Given the description of an element on the screen output the (x, y) to click on. 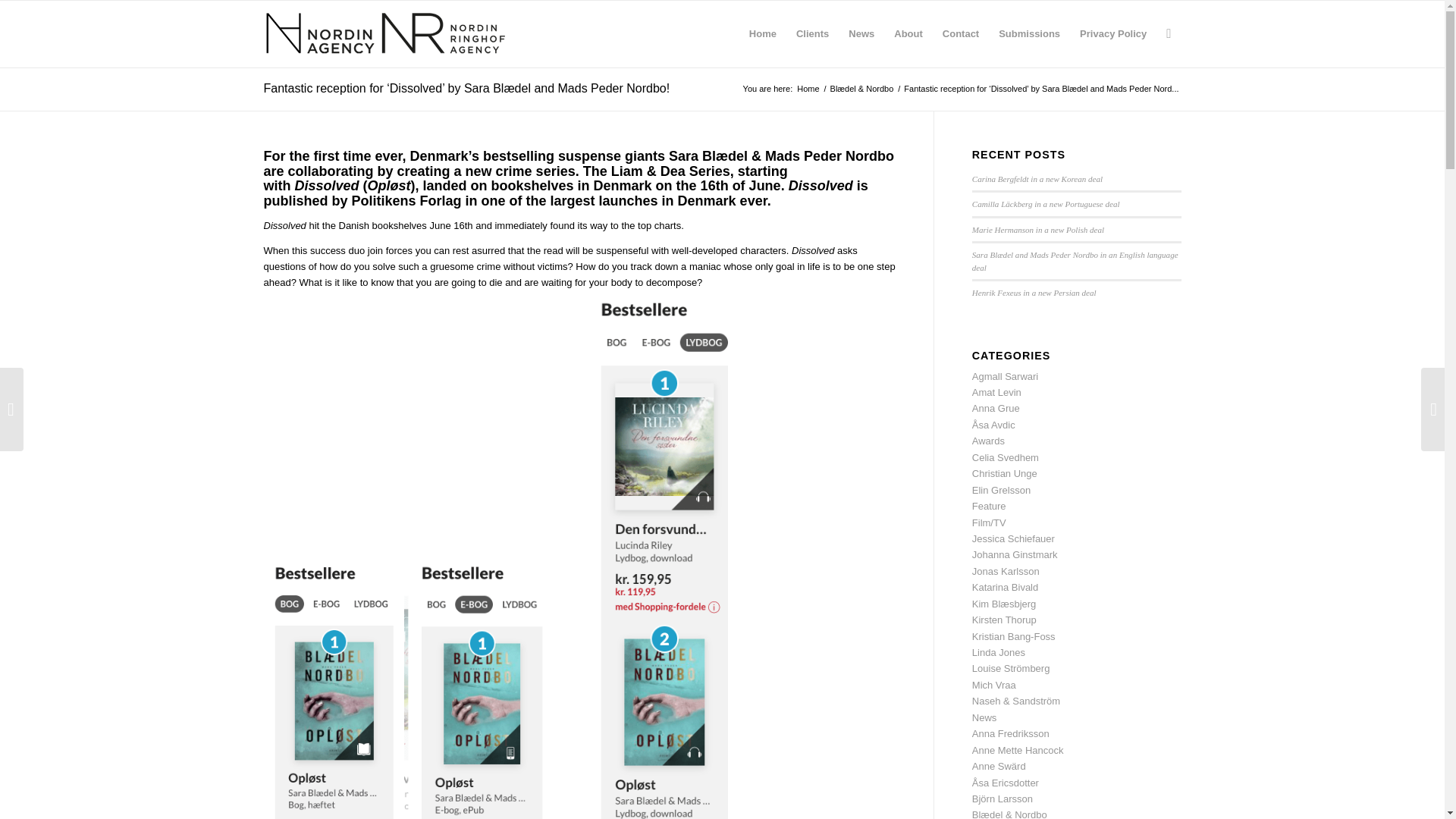
Kirsten Thorup (1004, 619)
Agmall Sarwari (1005, 376)
Jonas Karlsson (1005, 571)
Katarina Bivald (1005, 586)
Nordin Agency (807, 89)
Privacy Policy (1113, 33)
Henrik Fexeus in a new Persian deal (1034, 292)
Awards (988, 440)
Anna Grue (996, 408)
Celia Svedhem (1005, 457)
